Given the description of an element on the screen output the (x, y) to click on. 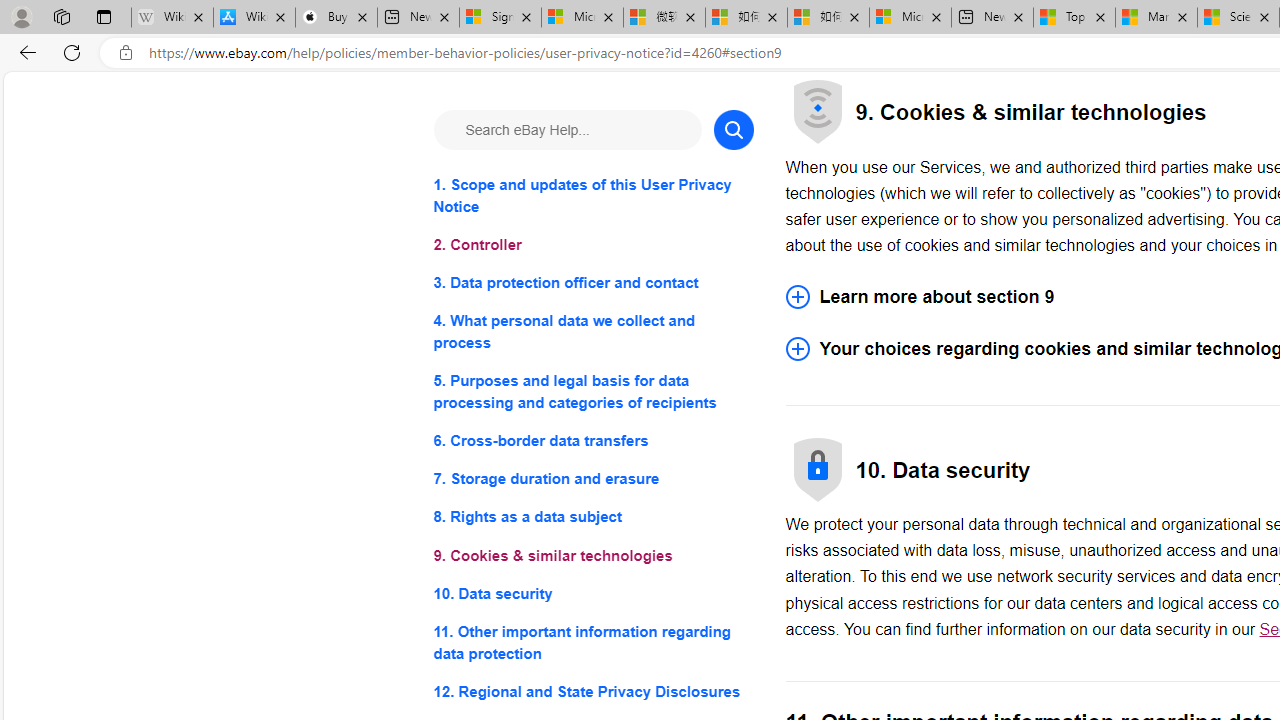
12. Regional and State Privacy Disclosures (592, 690)
Search eBay Help... (566, 129)
2. Controller (592, 245)
4. What personal data we collect and process (592, 332)
7. Storage duration and erasure (592, 479)
3. Data protection officer and contact (592, 283)
12. Regional and State Privacy Disclosures (592, 690)
6. Cross-border data transfers (592, 440)
